Given the description of an element on the screen output the (x, y) to click on. 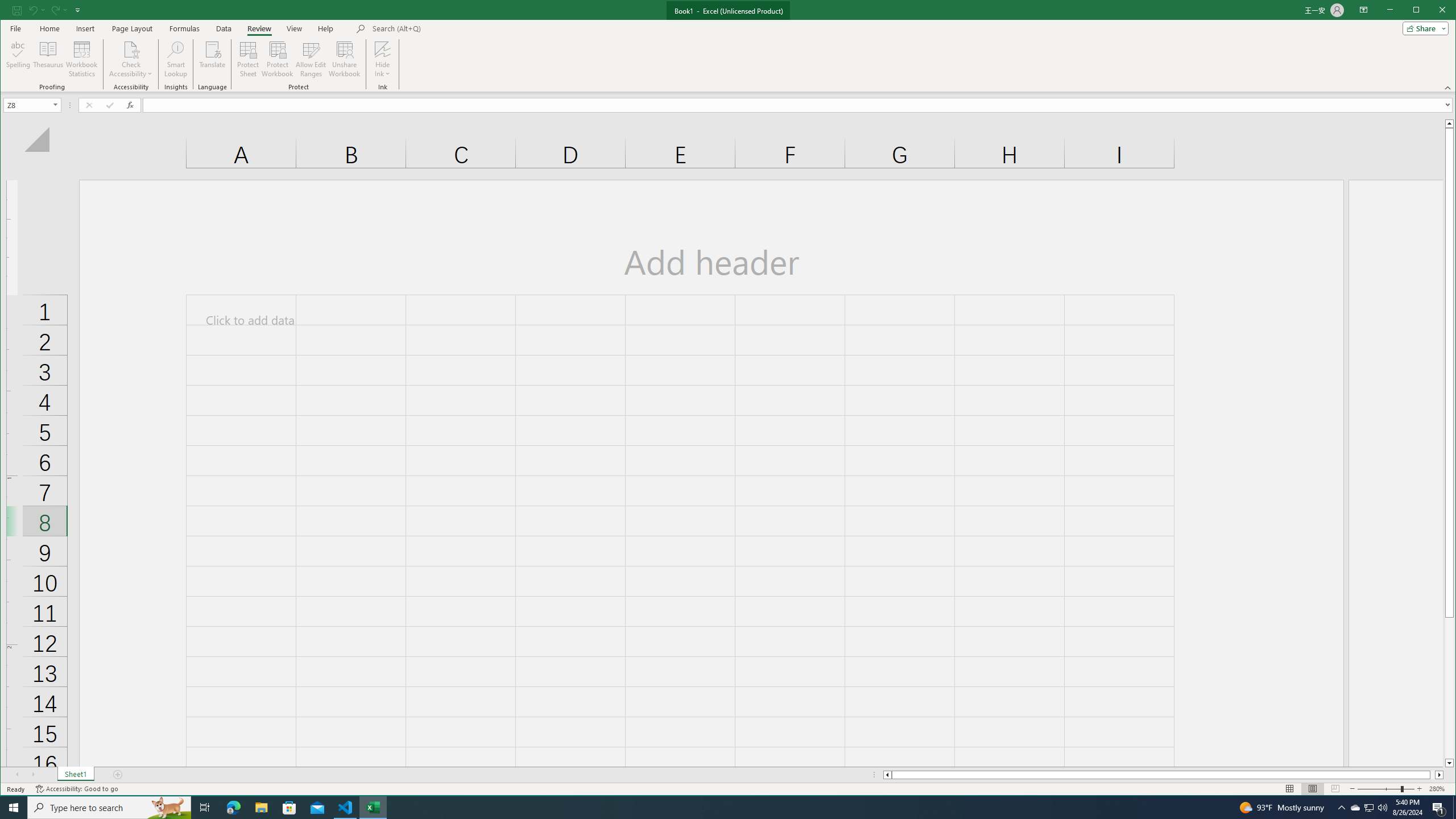
Task View (1355, 807)
Show desktop (204, 807)
Workbook Statistics (1454, 807)
